Given the description of an element on the screen output the (x, y) to click on. 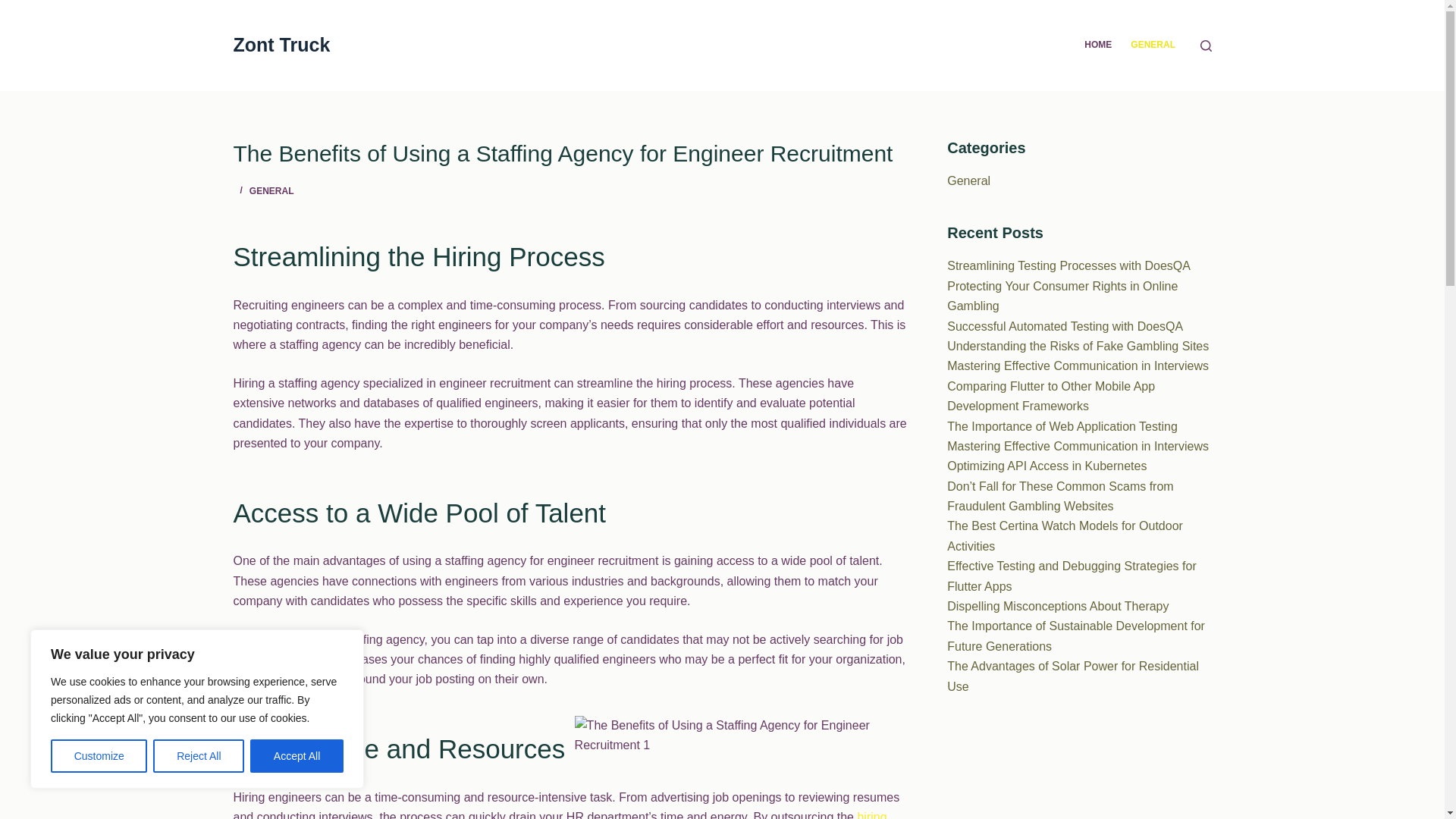
General (968, 180)
Accept All (296, 756)
Protecting Your Consumer Rights in Online Gambling (1062, 296)
Zont Truck (281, 44)
Understanding the Risks of Fake Gambling Sites (1077, 345)
Skip to content (15, 7)
Streamlining Testing Processes with DoesQA (1069, 265)
GENERAL (271, 190)
hiring process (559, 814)
Mastering Effective Communication in Interviews (1077, 365)
Customize (98, 756)
HOME (1098, 45)
Successful Automated Testing with DoesQA (1064, 326)
GENERAL (1153, 45)
Comparing Flutter to Other Mobile App Development Frameworks (1050, 396)
